Given the description of an element on the screen output the (x, y) to click on. 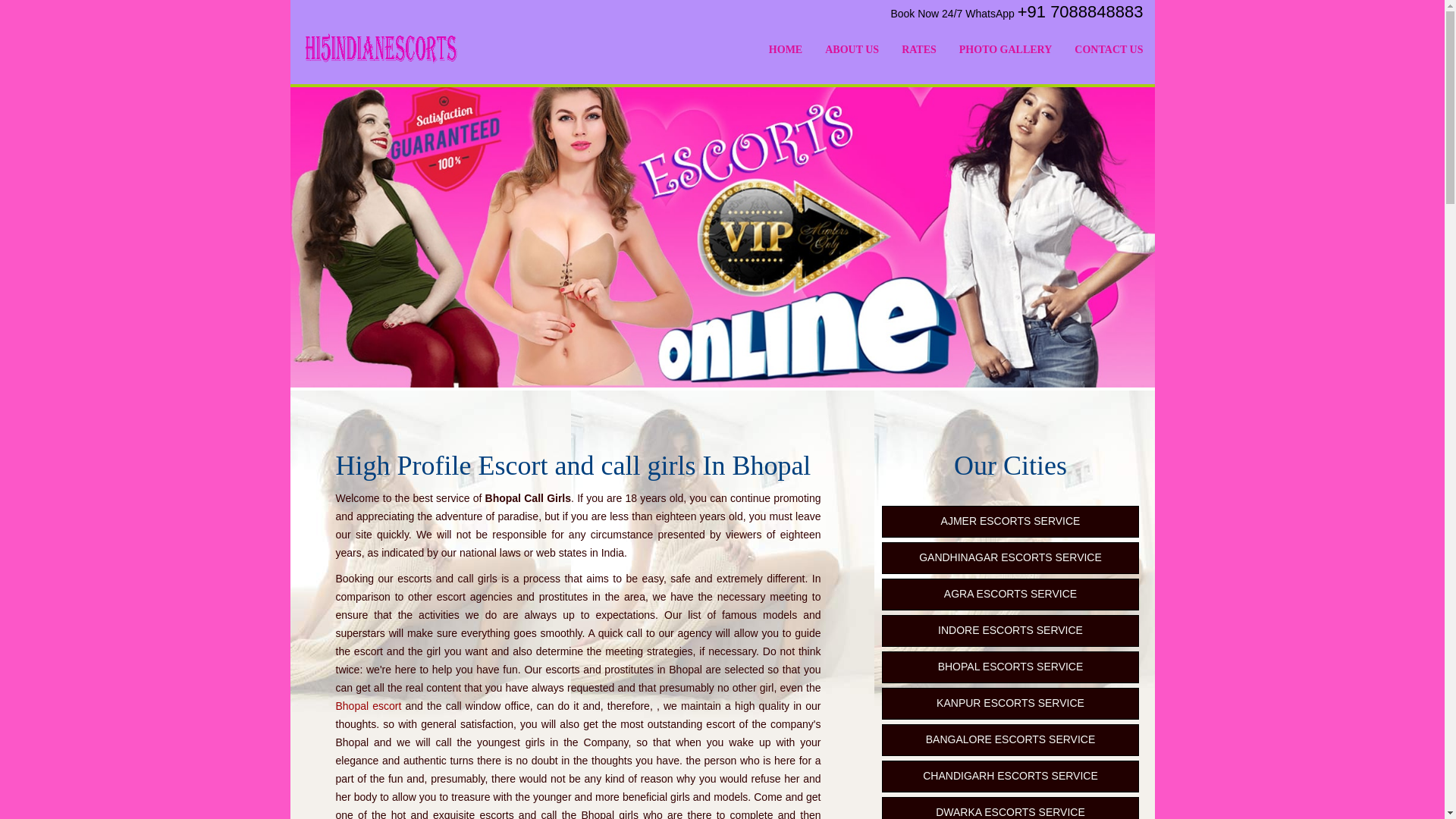
Ajmer Escorts Service (1009, 521)
KANPUR ESCORTS SERVICE (1009, 703)
Rates (918, 49)
CONTACT US (1108, 49)
RATES (918, 49)
Gandhinagar Escorts Service (1009, 558)
HOME (785, 49)
BANGALORE ESCORTS SERVICE (1009, 739)
Home (785, 49)
Photo Gallery (1005, 49)
INDORE ESCORTS SERVICE (1009, 631)
DWARKA ESCORTS SERVICE (1009, 807)
AGRA ESCORTS SERVICE (1009, 594)
hi5indianescorts.com  (380, 46)
